Given the description of an element on the screen output the (x, y) to click on. 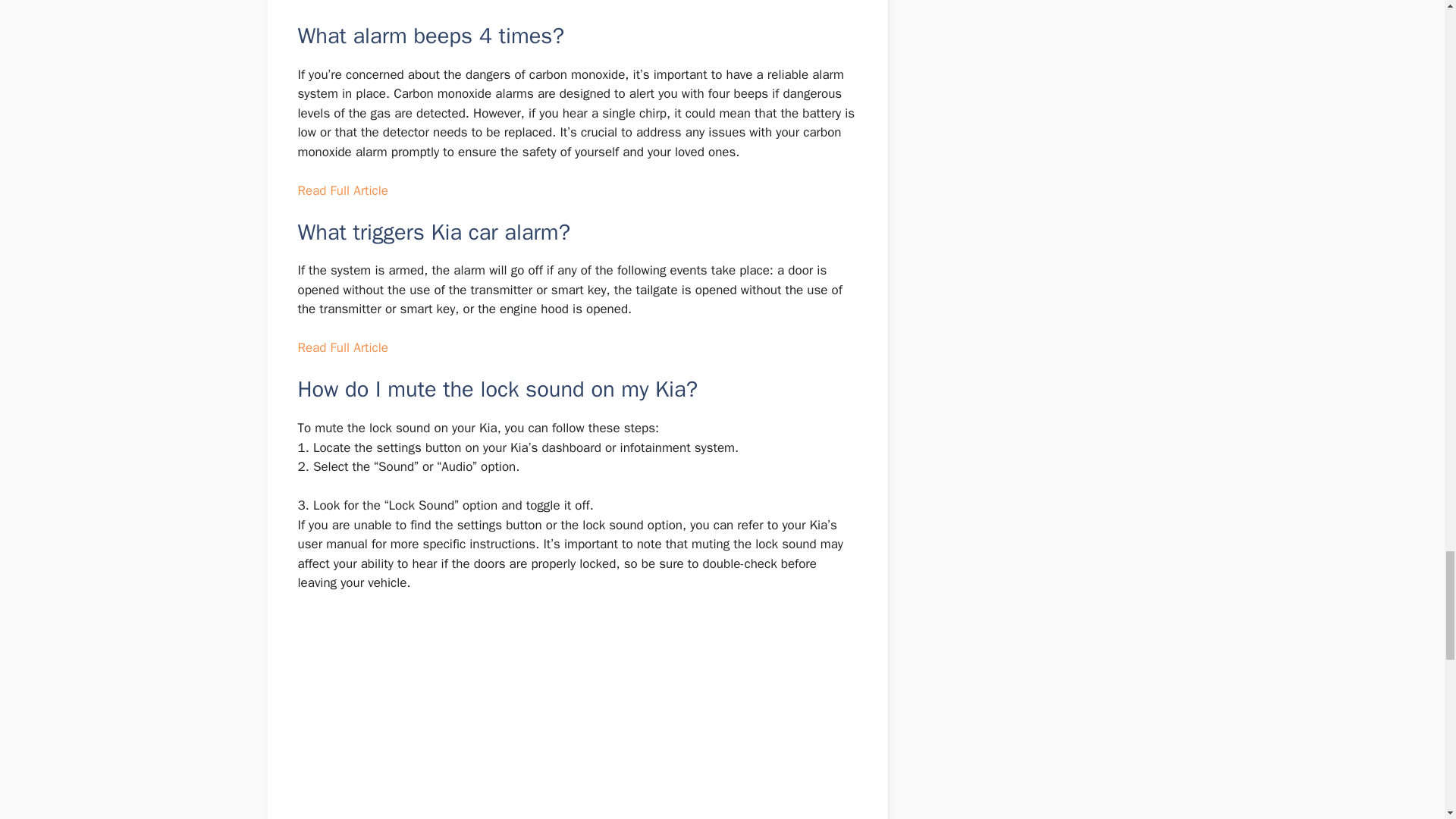
Read Full Article (342, 347)
Can I leave my dog in a crate for 10 hours? (577, 715)
Read Full Article (342, 1)
Read Full Article (342, 190)
